Given the description of an element on the screen output the (x, y) to click on. 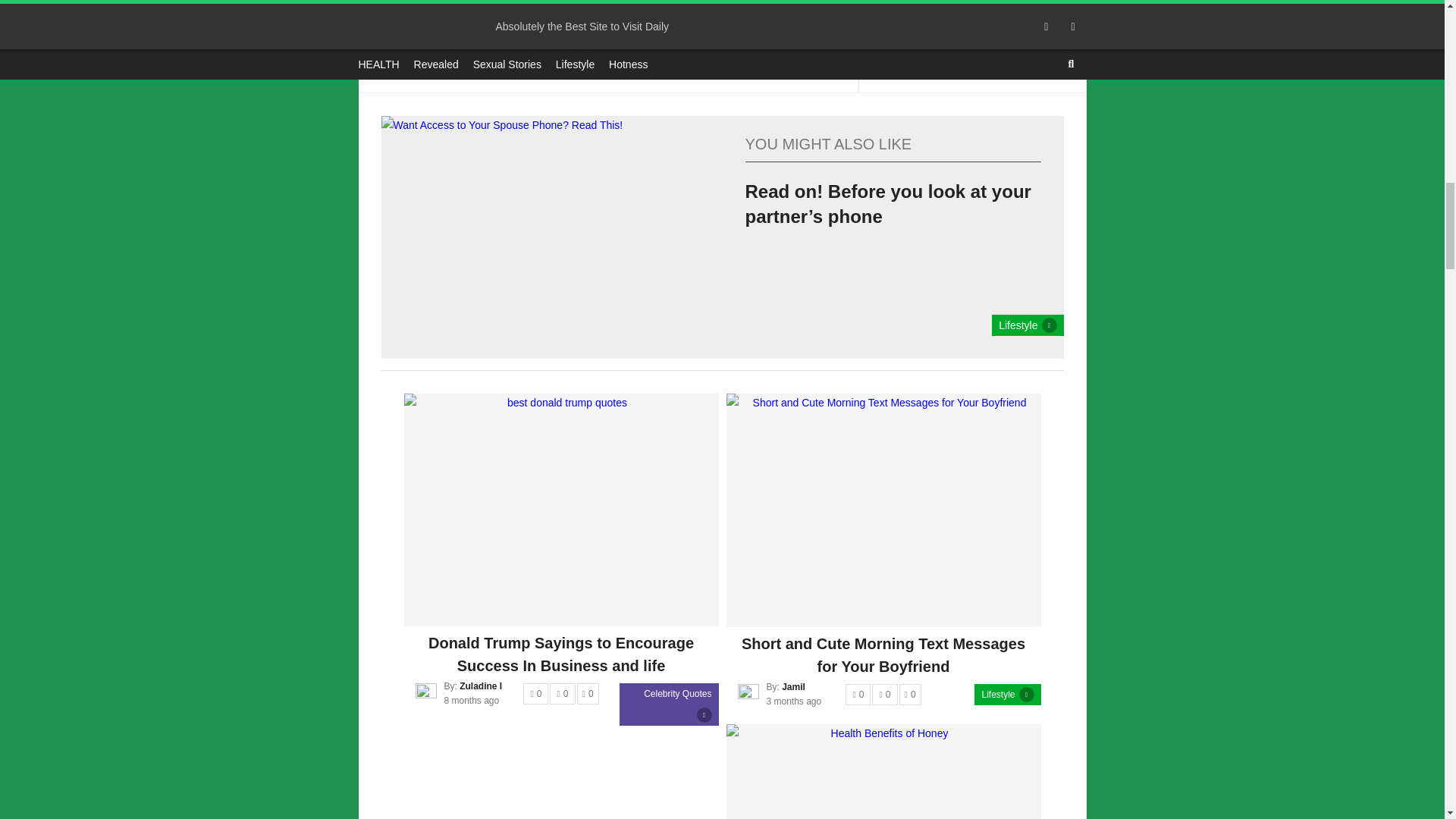
Posts by Zuladine I (481, 685)
Posts by Jamil (793, 686)
Twitter (584, 54)
Facebook (446, 54)
